Given the description of an element on the screen output the (x, y) to click on. 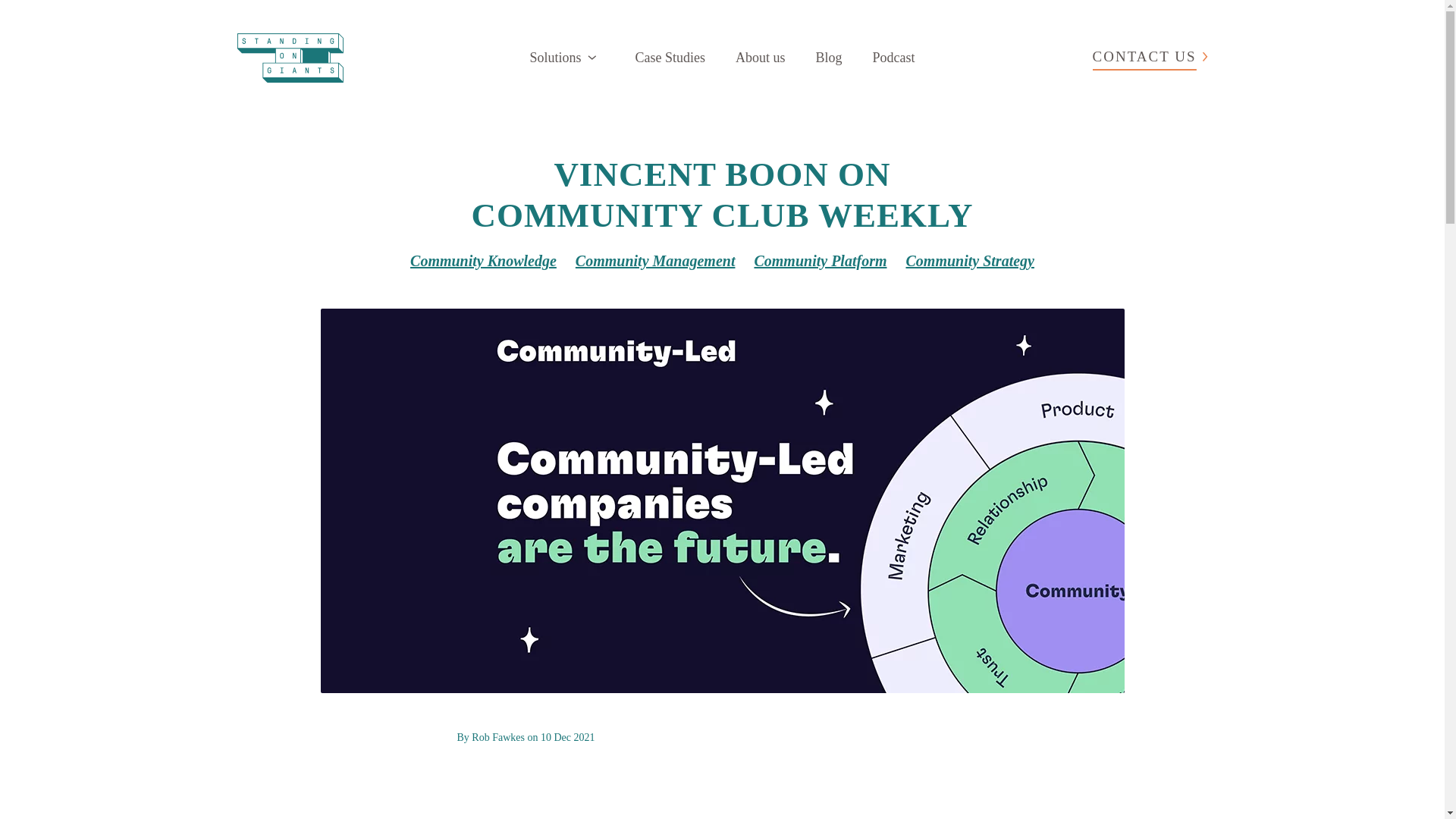
About us (760, 57)
Community Strategy (969, 260)
Community Knowledge (483, 260)
Community Management (654, 260)
Solutions (562, 57)
CONTACT US (1144, 57)
Community Platform (819, 260)
Blog (828, 57)
Contact us (1144, 57)
Case Studies (669, 57)
